Given the description of an element on the screen output the (x, y) to click on. 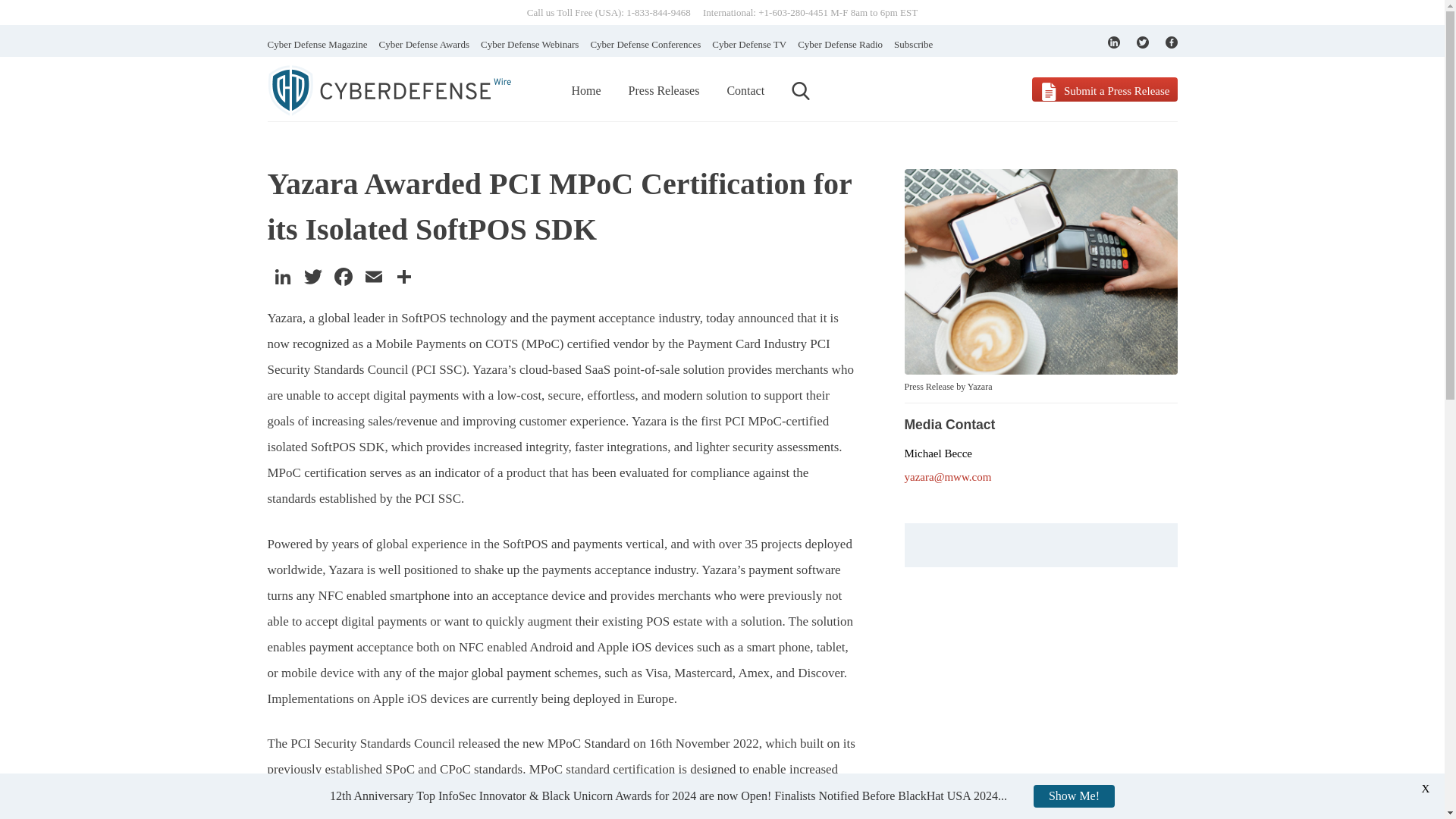
Email (373, 278)
Cyber Defense Awards (423, 43)
Press Releases (664, 90)
Home (586, 90)
Submit a Press Release (1104, 88)
Show Me! (1074, 795)
Email (373, 278)
Subscribe (913, 43)
Cyber Defense Webinars (529, 43)
LinkedIn (281, 278)
